Given the description of an element on the screen output the (x, y) to click on. 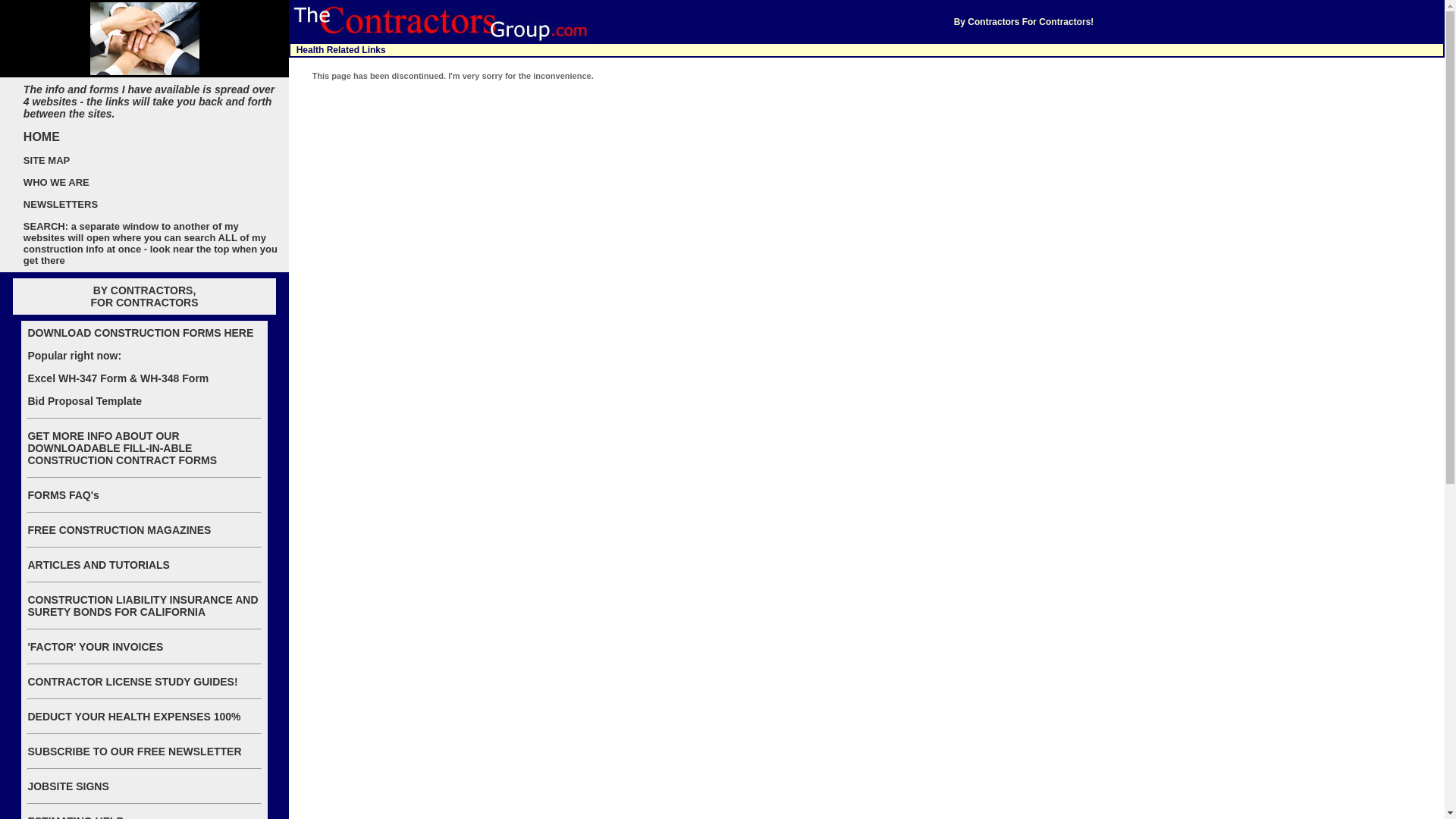
WHO WE ARE (55, 182)
Bid Proposal Template (84, 400)
NEWSLETTERS (60, 203)
CONTRACTOR LICENSE STUDY GUIDES! (132, 681)
FORMS FAQ's (63, 494)
FREE CONSTRUCTION MAGAZINES (119, 530)
SUBSCRIBE TO OUR FREE NEWSLETTER (134, 751)
ARTICLES AND TUTORIALS (97, 564)
JOBSITE SIGNS (67, 786)
DOWNLOAD CONSTRUCTION FORMS HERE (140, 332)
HOME (41, 137)
SITE MAP (46, 159)
